Given the description of an element on the screen output the (x, y) to click on. 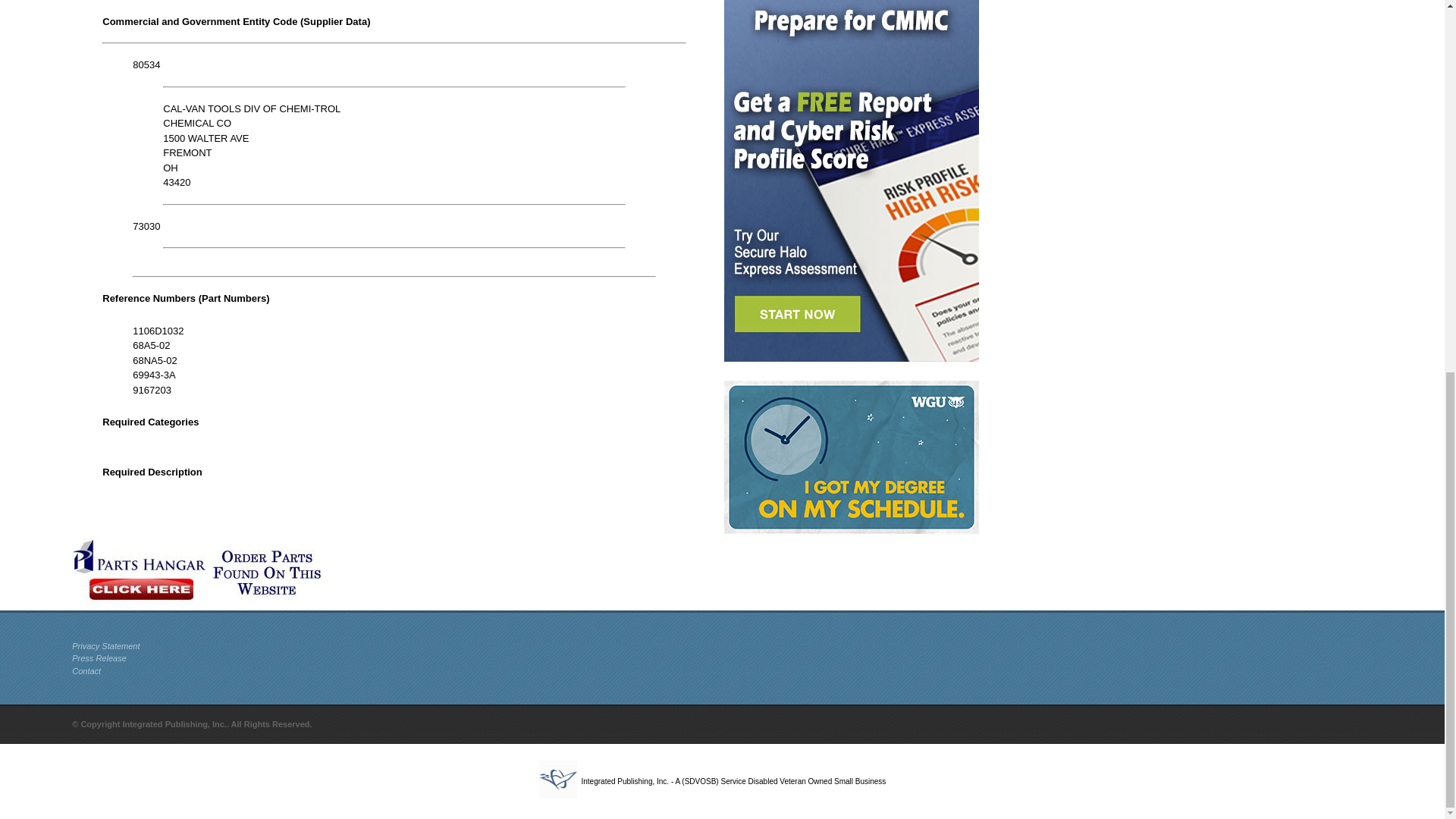
Privacy Statement (105, 645)
Press Release (98, 657)
Contact (85, 670)
